Given the description of an element on the screen output the (x, y) to click on. 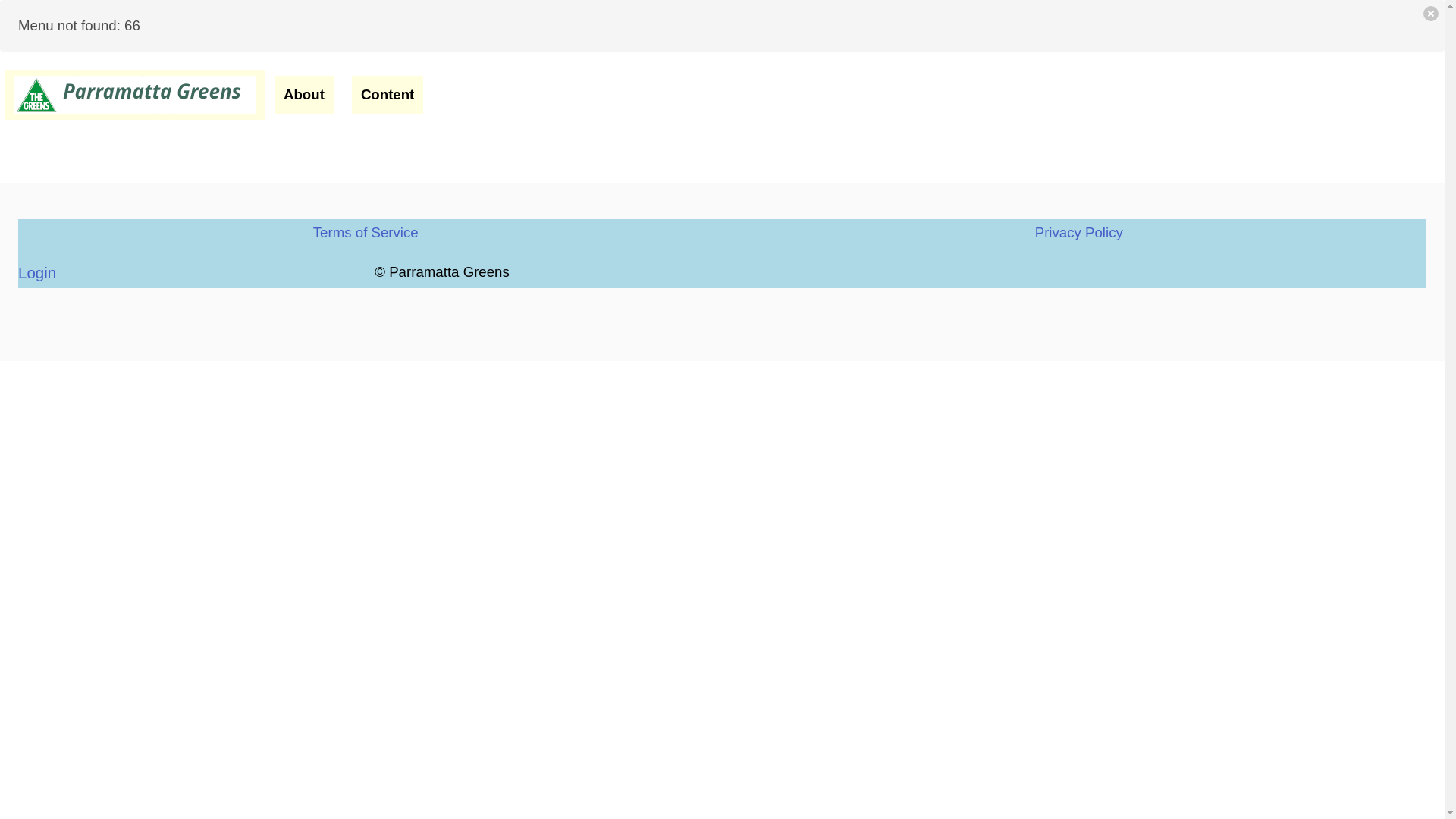
Privacy Policy Element type: text (1079, 232)
About Element type: text (303, 94)
Terms of Service Element type: text (365, 232)
Login Element type: text (37, 272)
Content Element type: text (387, 94)
